Given the description of an element on the screen output the (x, y) to click on. 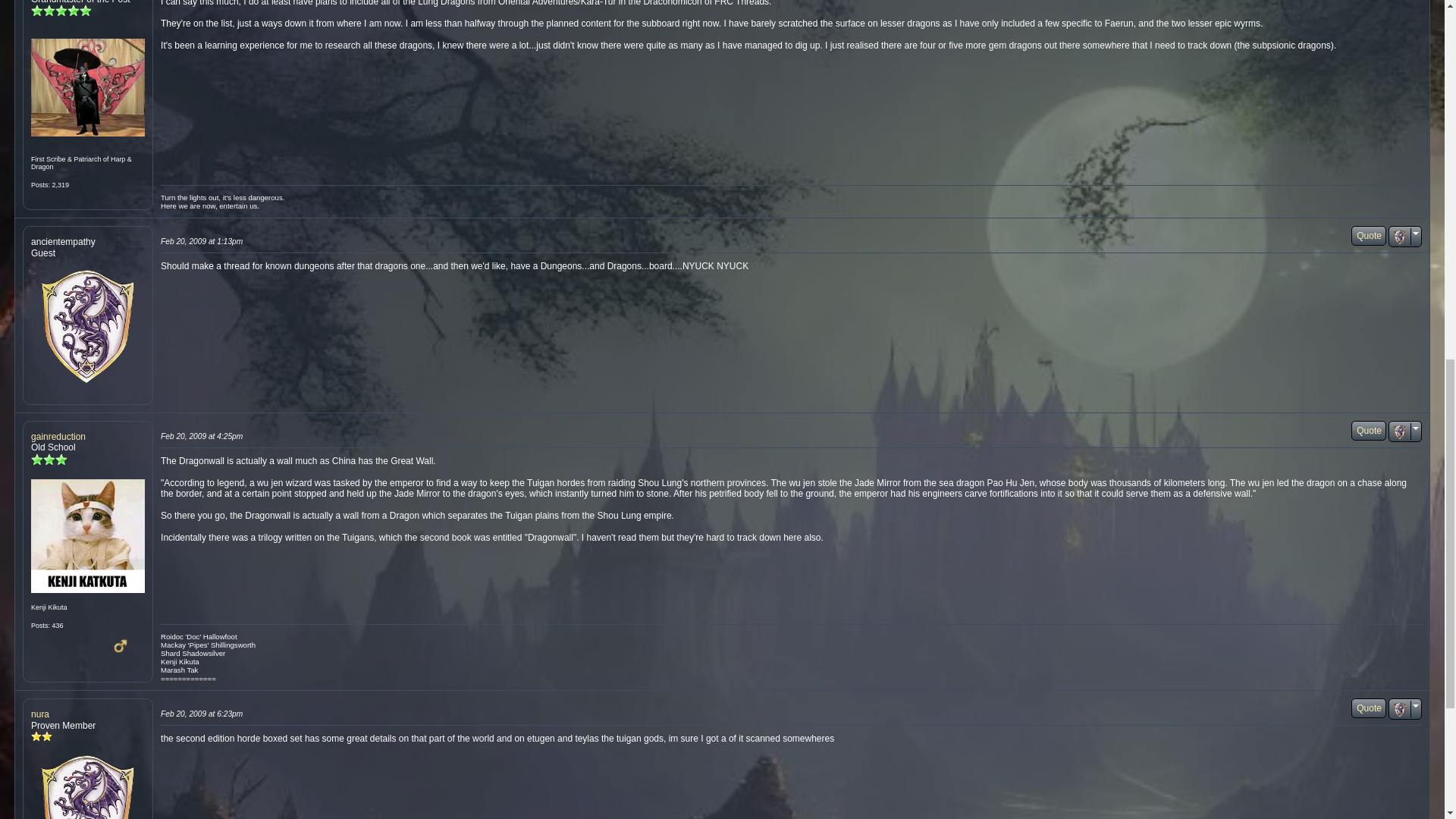
Masterbard Alyster Darkharp (87, 87)
Guest (87, 327)
